Given the description of an element on the screen output the (x, y) to click on. 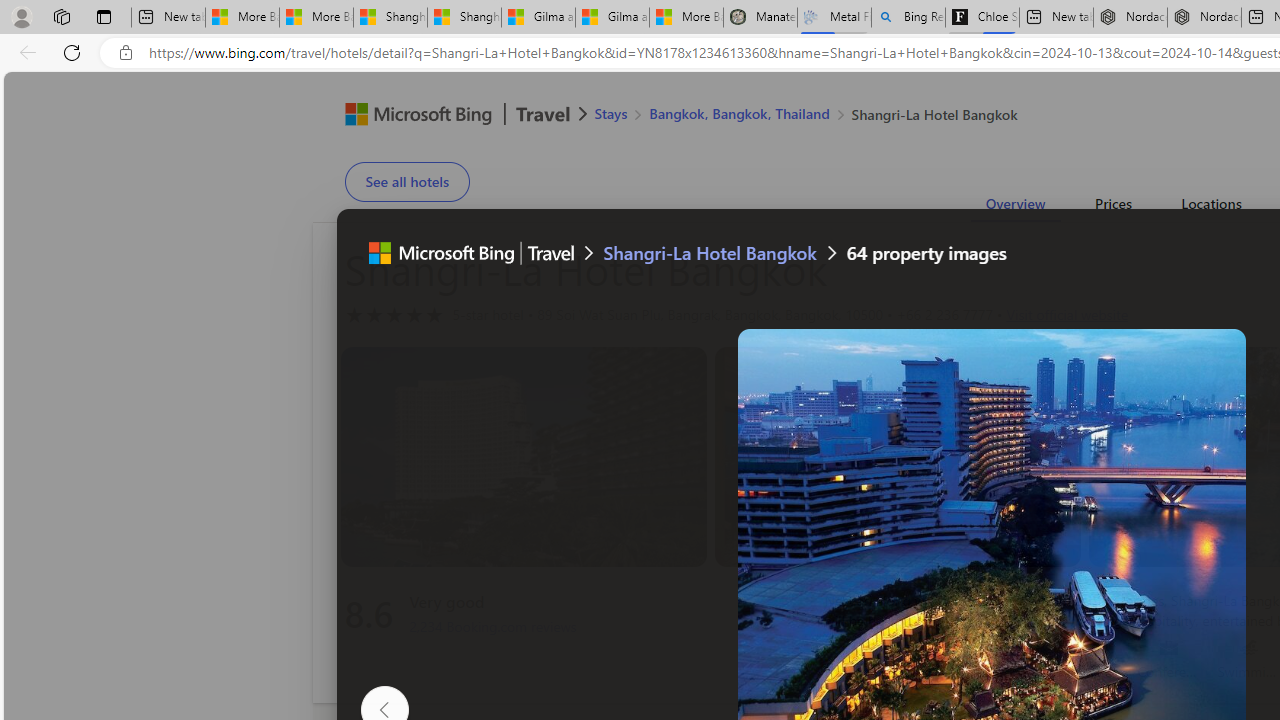
Bing Real Estate - Home sales and rental listings (907, 17)
Chloe Sorvino (981, 17)
